Given the description of an element on the screen output the (x, y) to click on. 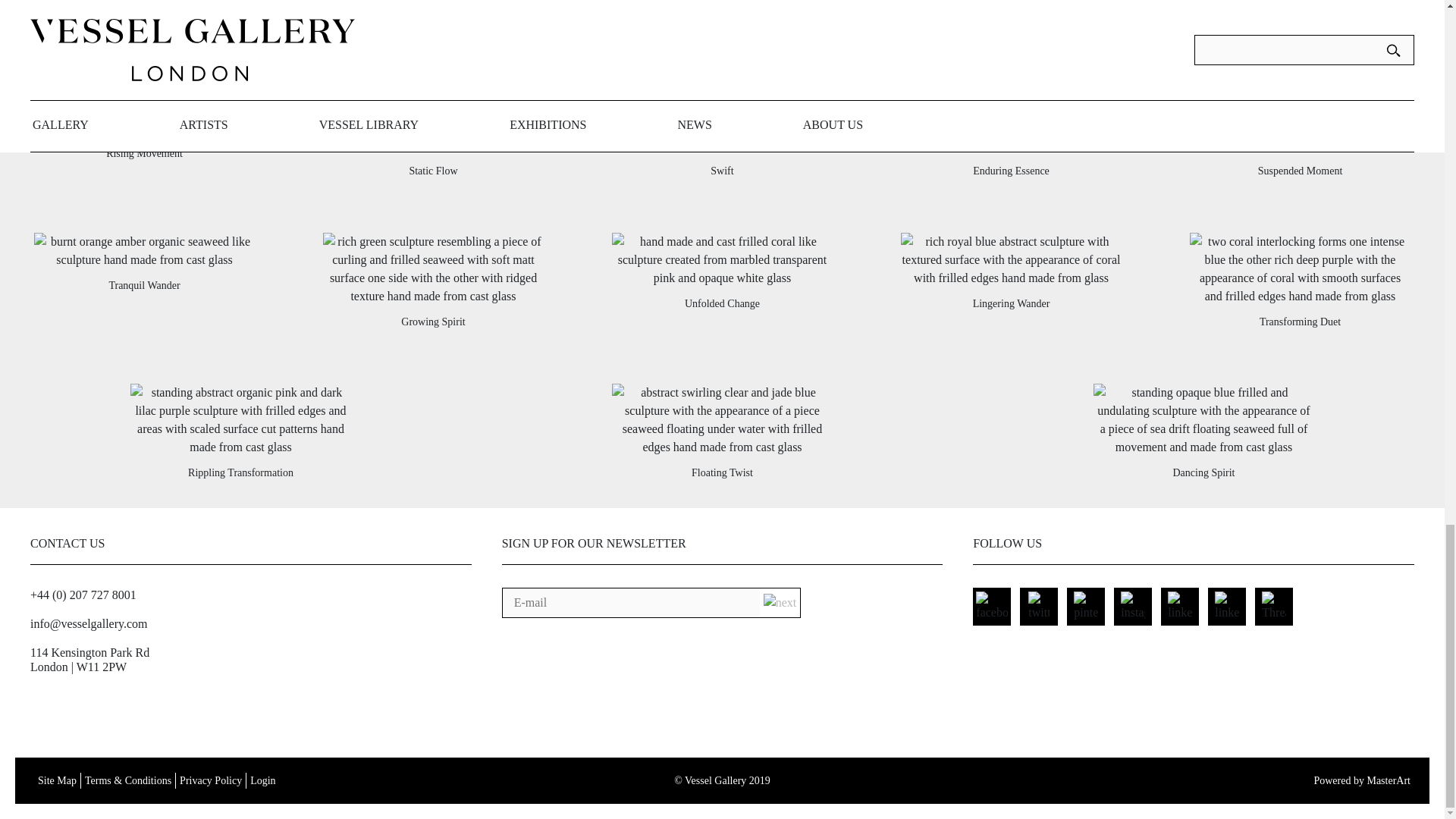
Dynamic Breath (144, 56)
Suspended Moment (1299, 170)
Zephyr (432, 56)
Evolving Movement (1299, 56)
Static Movement (1010, 56)
Rising Movement (144, 153)
Momentary Shift (721, 56)
Swift (721, 170)
Enduring Essence (1010, 170)
Static Flow (433, 170)
